Given the description of an element on the screen output the (x, y) to click on. 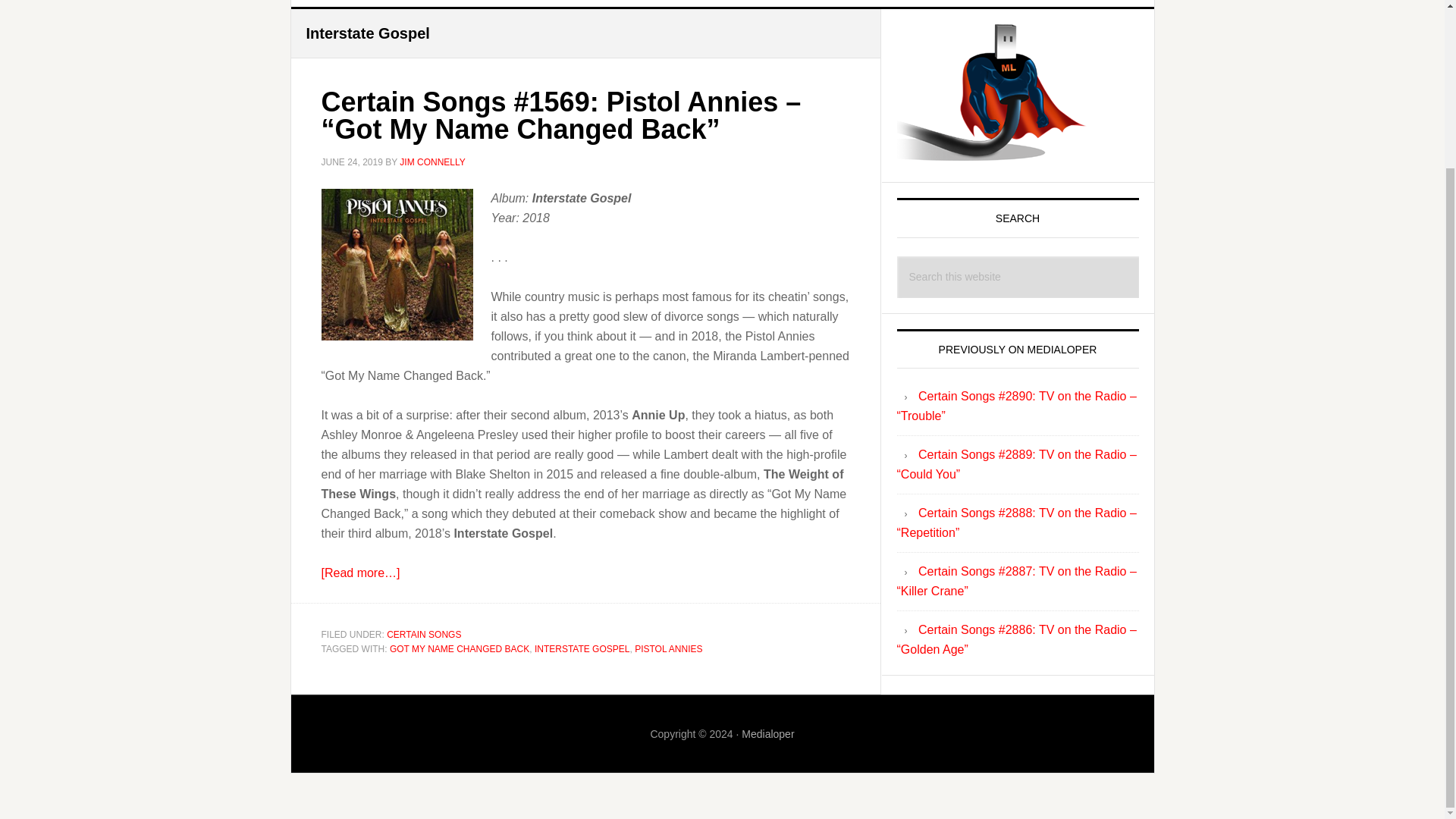
CERTAIN SONGS (424, 633)
INTERSTATE GOSPEL (582, 648)
GOT MY NAME CHANGED BACK (459, 648)
JIM CONNELLY (431, 162)
PISTOL ANNIES (667, 648)
Medialoper (767, 733)
